Given the description of an element on the screen output the (x, y) to click on. 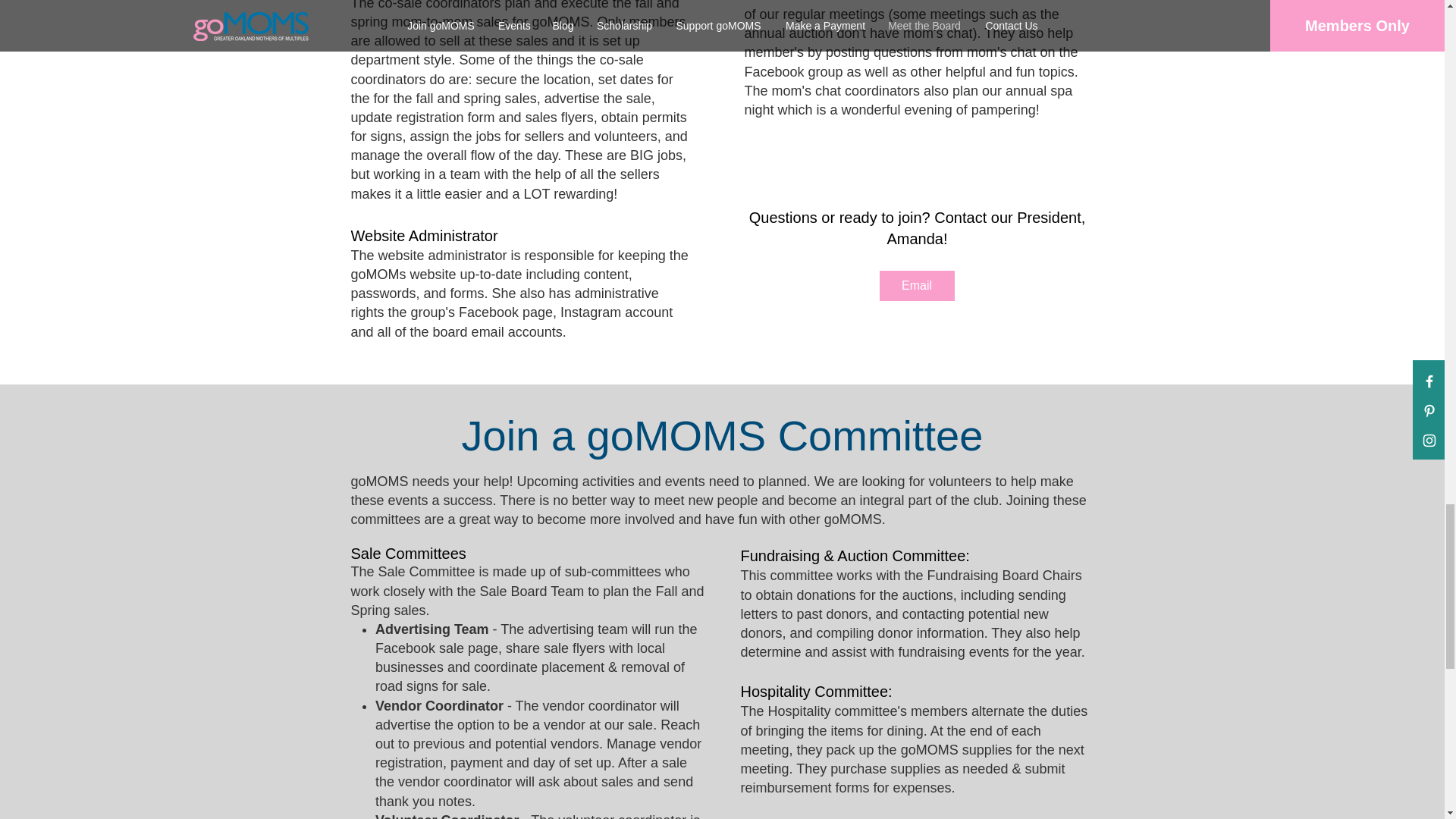
Email (917, 286)
